Given the description of an element on the screen output the (x, y) to click on. 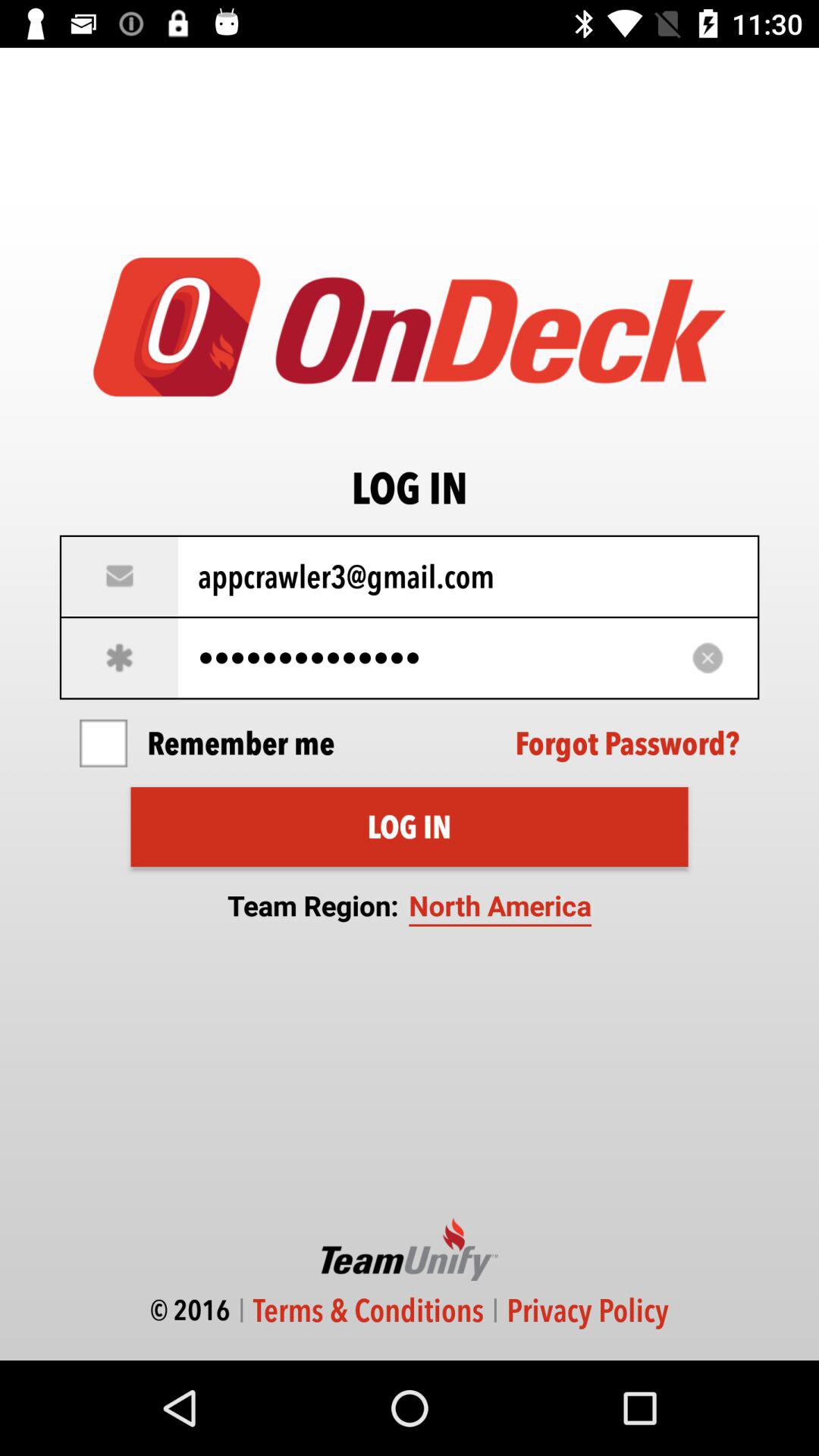
click icon above the appcrawler3116 item (409, 576)
